Given the description of an element on the screen output the (x, y) to click on. 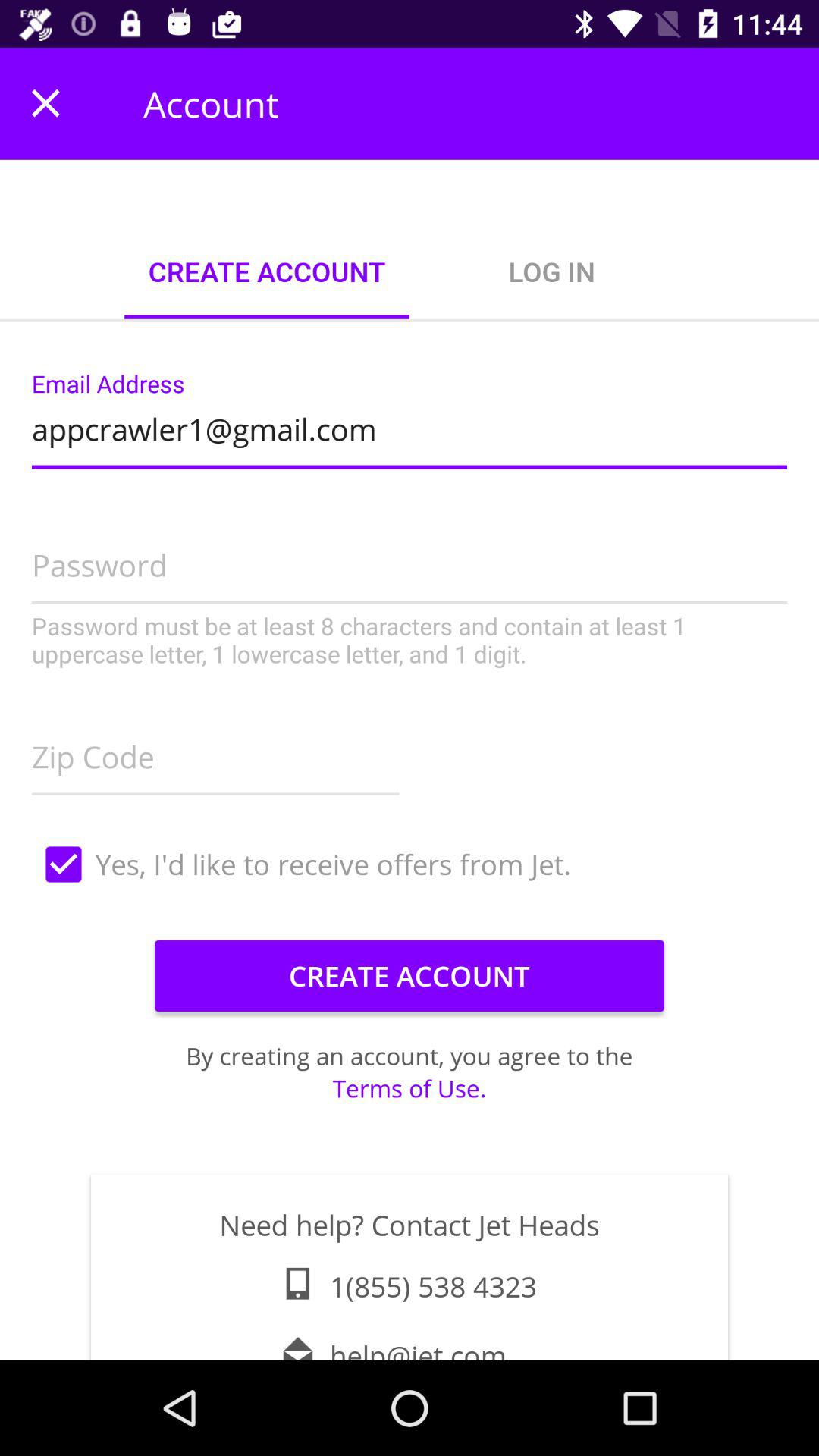
swipe to the yes i d item (409, 864)
